Given the description of an element on the screen output the (x, y) to click on. 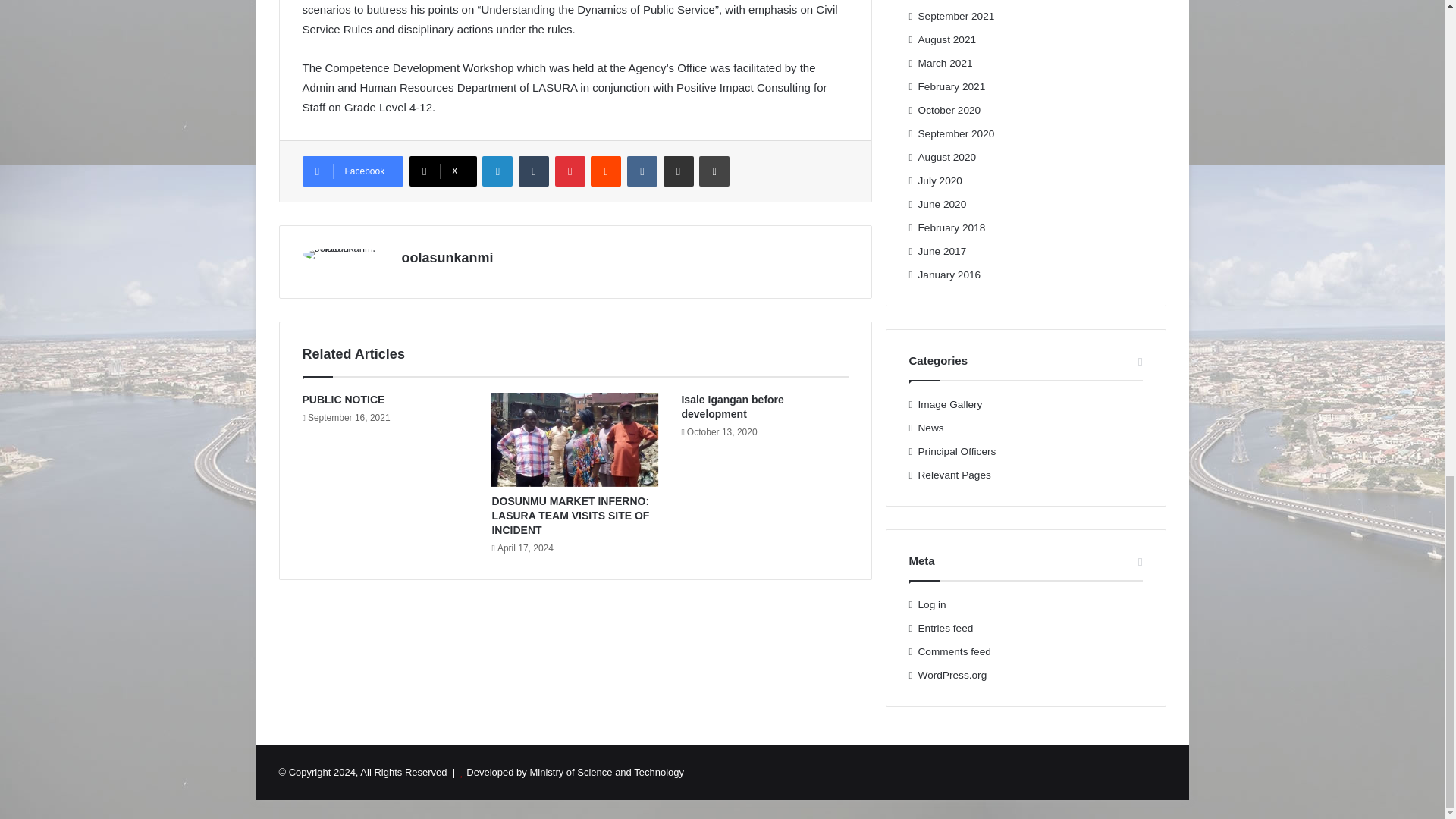
Share via Email (678, 171)
VKontakte (642, 171)
Facebook (352, 171)
Share via Email (678, 171)
Reddit (606, 171)
LinkedIn (496, 171)
Facebook (352, 171)
oolasunkanmi (447, 257)
Print (713, 171)
Pinterest (569, 171)
